Given the description of an element on the screen output the (x, y) to click on. 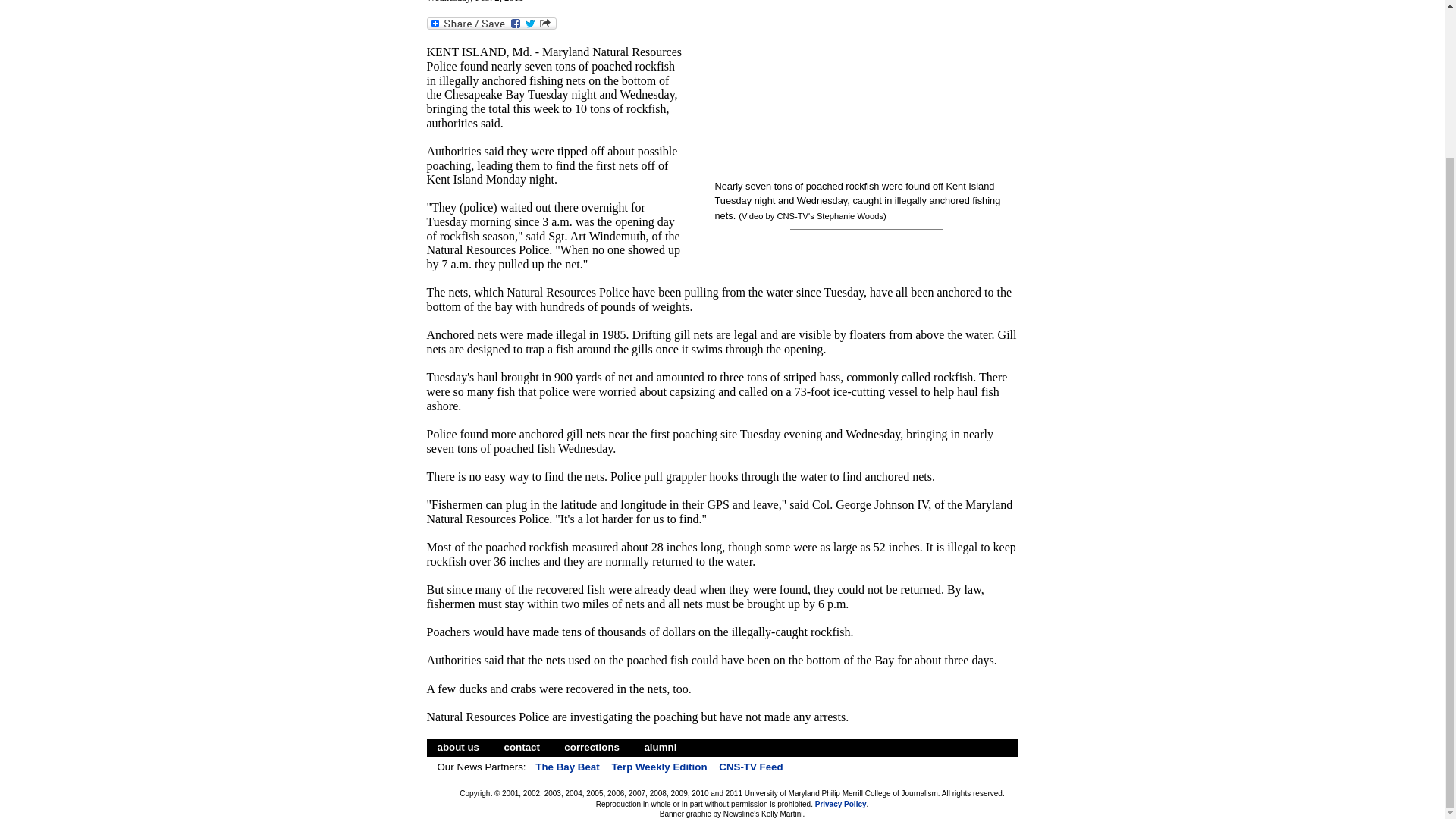
Terp Weekly Edition (658, 766)
alumni (660, 747)
CNS-TV Feed (750, 766)
about us (458, 747)
corrections (591, 747)
contact (521, 747)
The Bay Beat (566, 766)
Privacy Policy (840, 804)
